Given the description of an element on the screen output the (x, y) to click on. 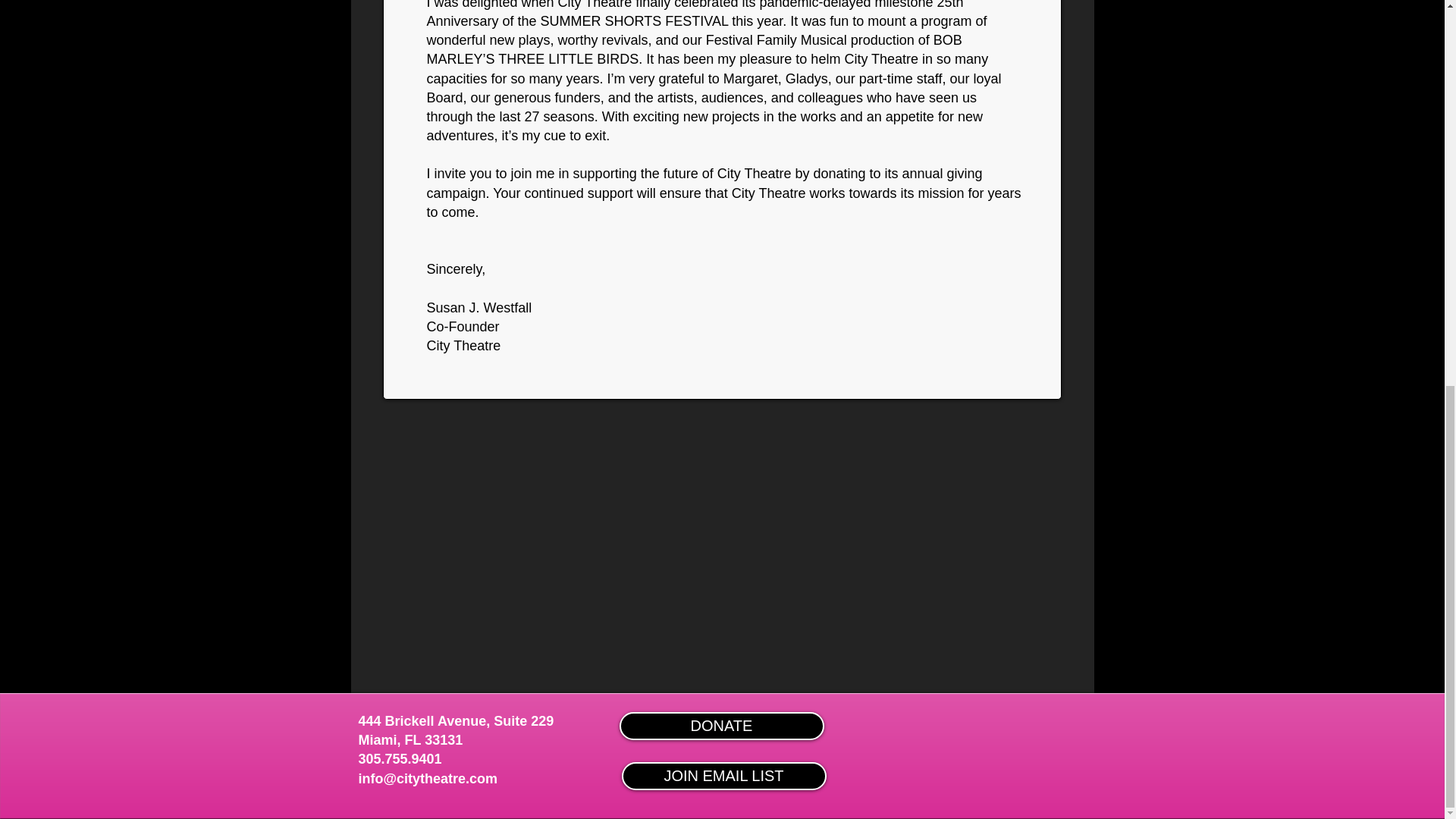
DONATE (721, 725)
JOIN EMAIL LIST (724, 776)
